Given the description of an element on the screen output the (x, y) to click on. 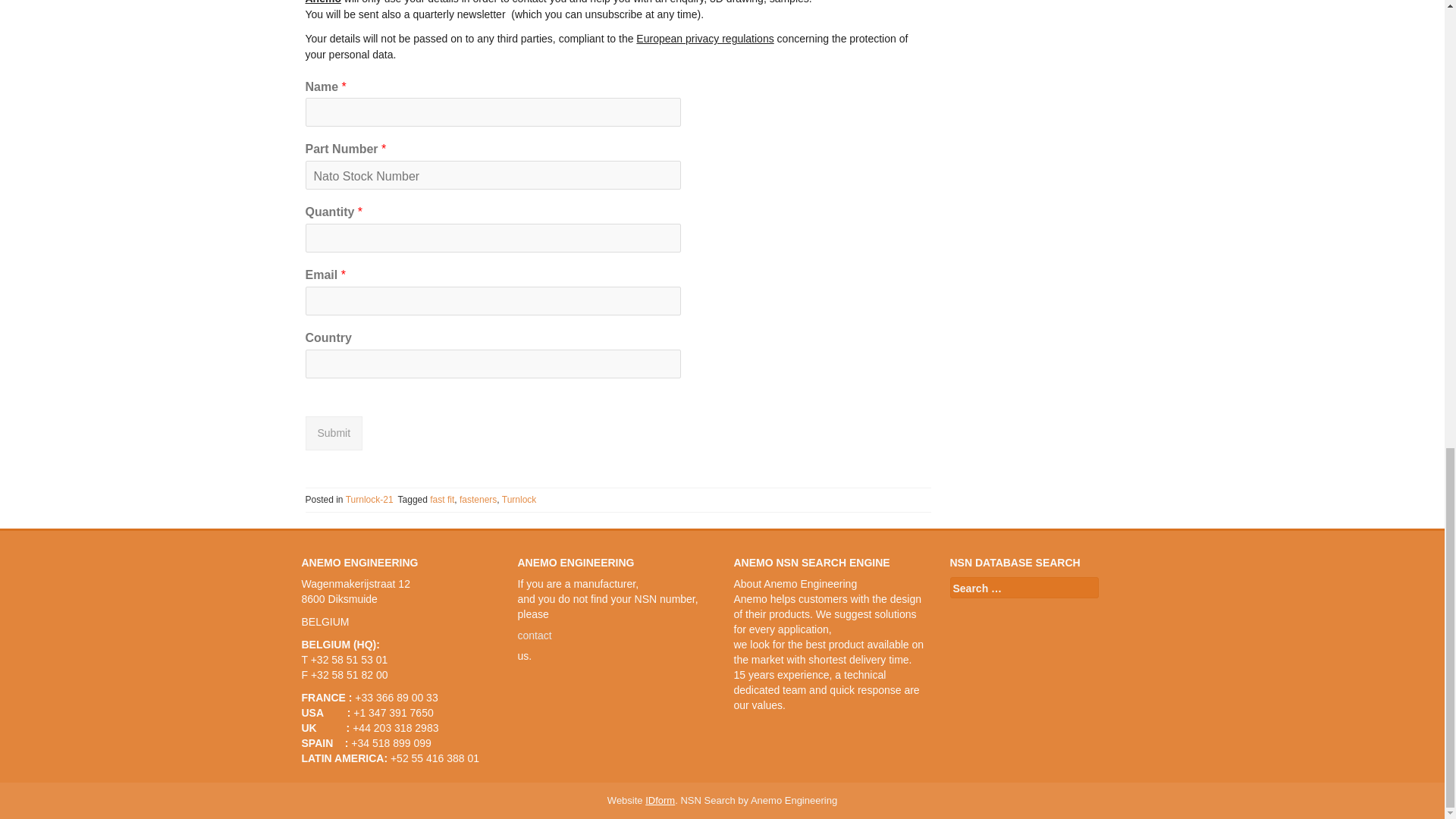
fast fit (441, 499)
Submit (333, 433)
Turnlock-21 (369, 499)
Turnlock (519, 499)
fasteners (478, 499)
